Given the description of an element on the screen output the (x, y) to click on. 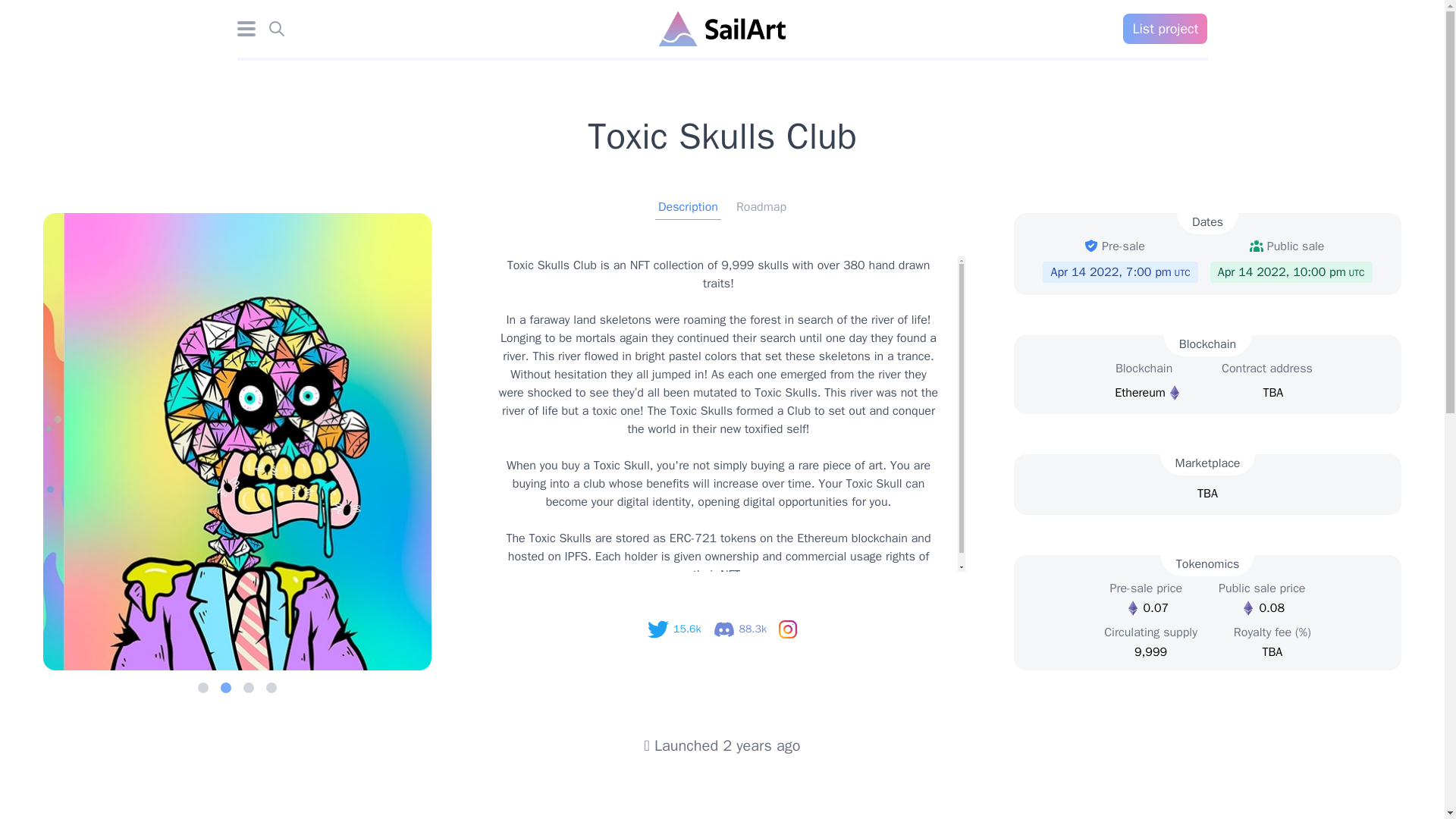
15.6k (673, 629)
88.3k (739, 629)
List project (1164, 28)
